Given the description of an element on the screen output the (x, y) to click on. 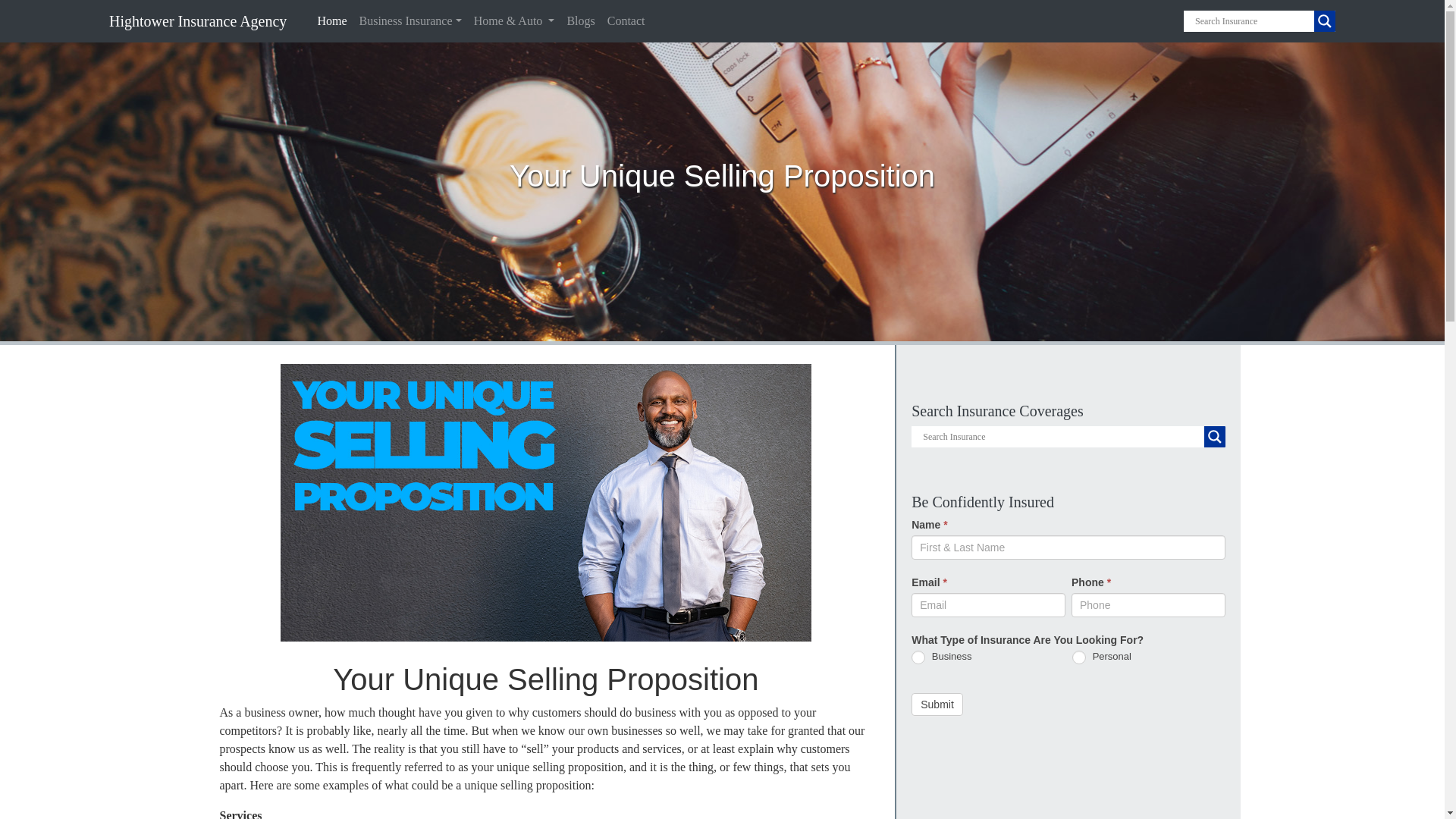
Business Insurance (409, 20)
Personal (1078, 657)
Blogs (579, 20)
Hightower Insurance Agency (185, 20)
Business (917, 657)
Submit (936, 703)
Contact (625, 20)
